Given the description of an element on the screen output the (x, y) to click on. 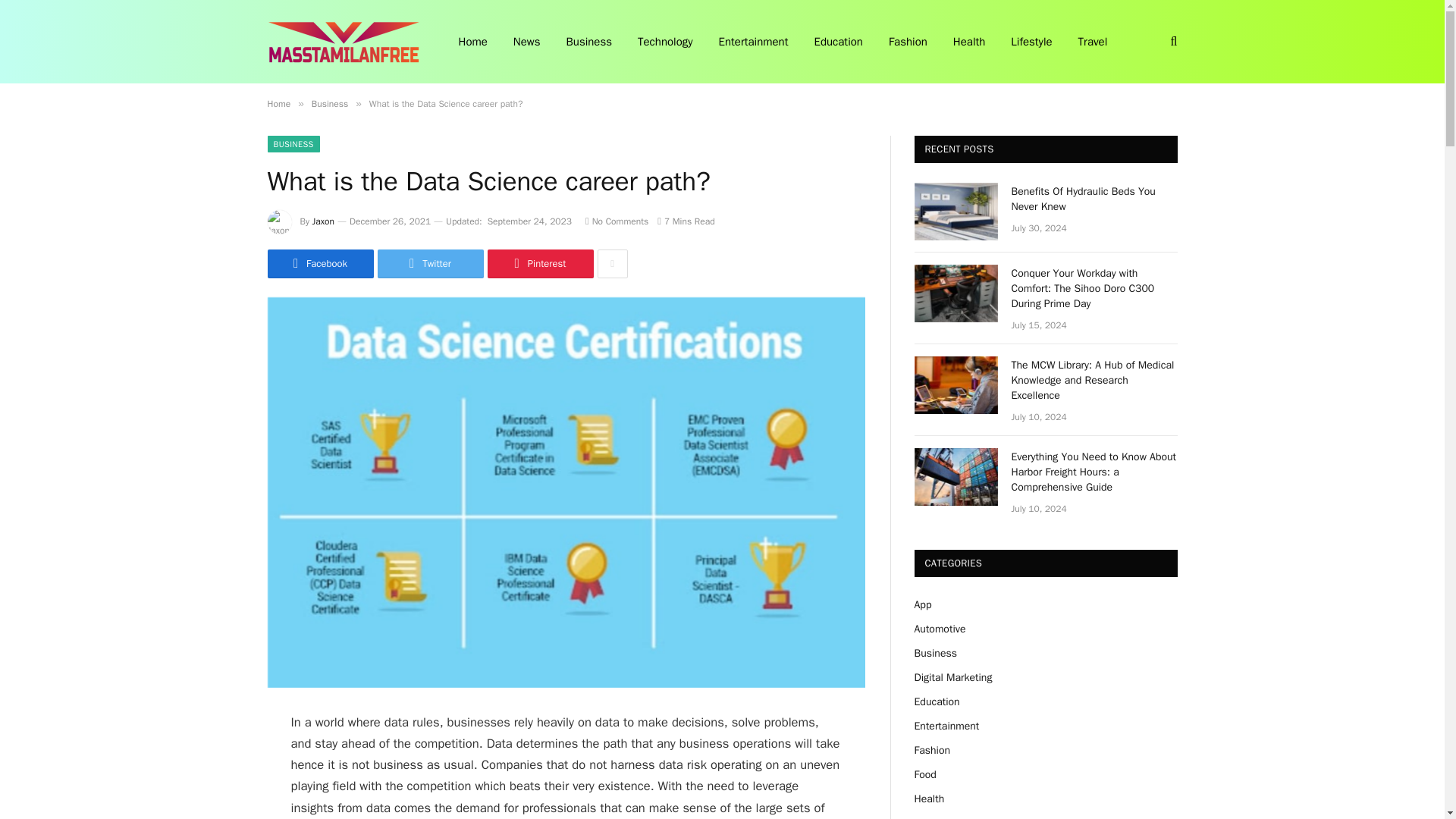
Technology (665, 41)
Show More Social Sharing (611, 263)
Share on Facebook (319, 263)
Home (277, 103)
Facebook (319, 263)
Pinterest (539, 263)
Business (329, 103)
Share on Pinterest (539, 263)
No Comments (616, 221)
BUSINESS (292, 143)
